Given the description of an element on the screen output the (x, y) to click on. 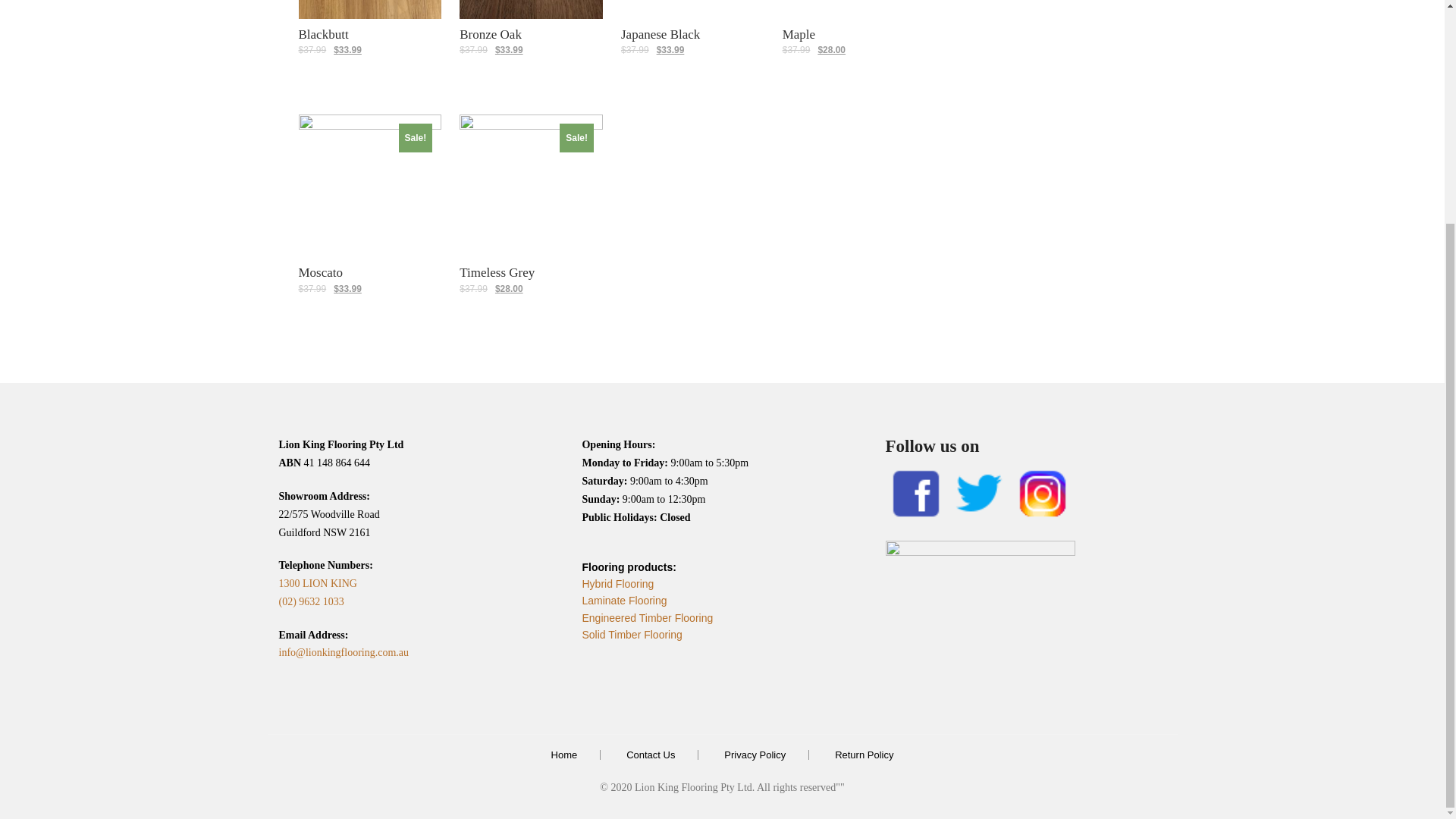
Contact Us (650, 754)
Privacy Policy (754, 754)
Home (564, 754)
